Given the description of an element on the screen output the (x, y) to click on. 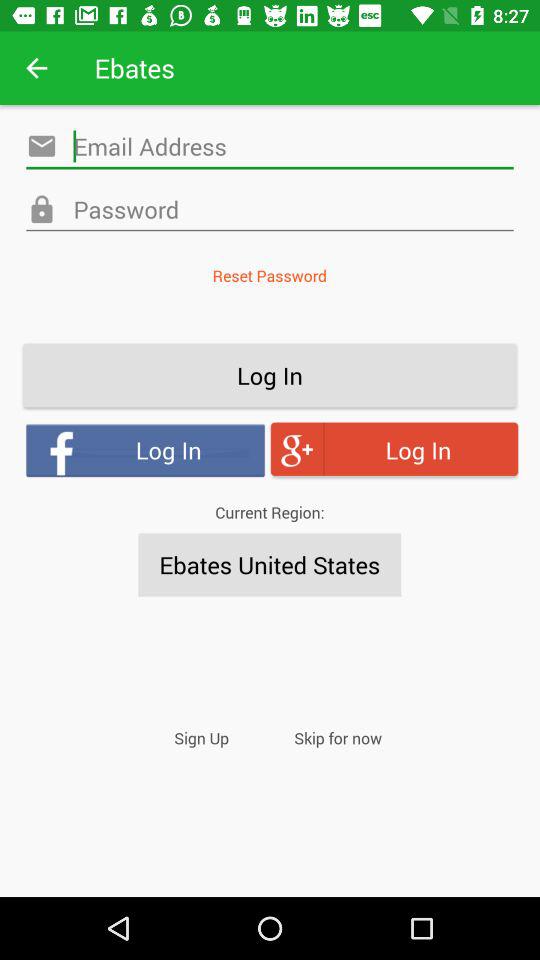
tap icon above the sign up icon (269, 564)
